Given the description of an element on the screen output the (x, y) to click on. 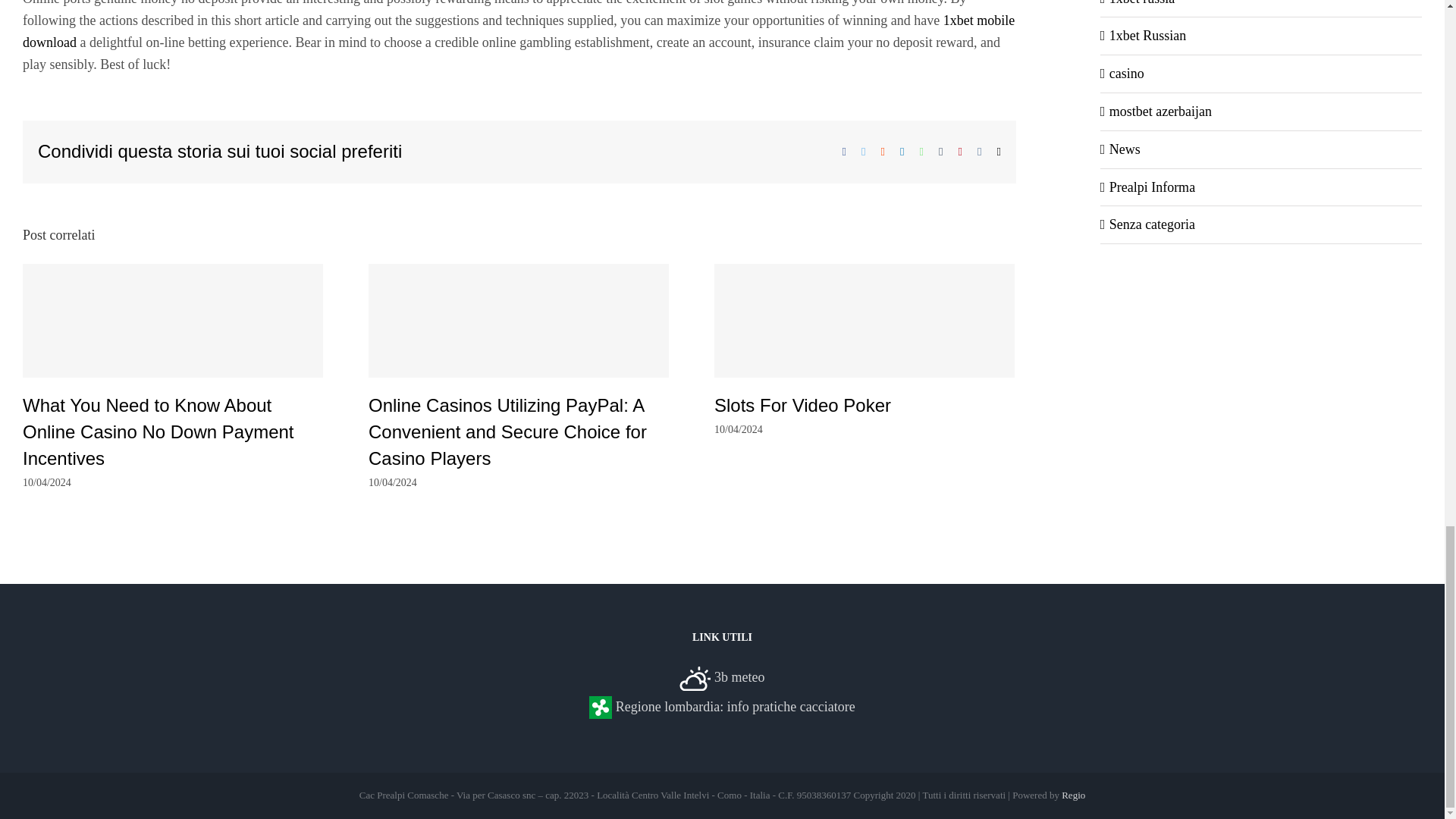
1xbet mobile download (518, 31)
Slots For Video Poker (802, 404)
